Given the description of an element on the screen output the (x, y) to click on. 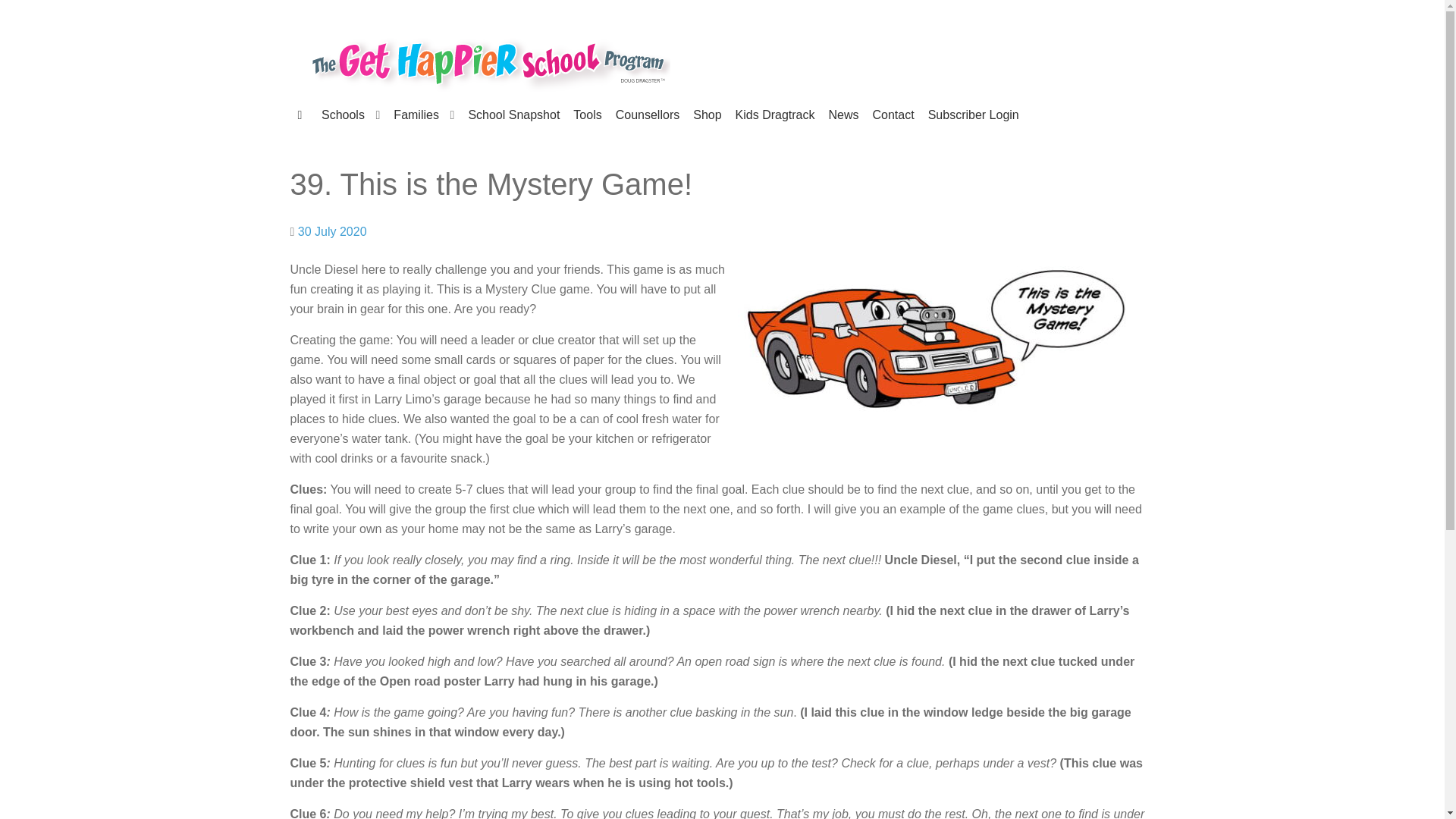
Counsellors (647, 115)
The Get Happier Project (488, 60)
Tools (587, 115)
School Snapshot (513, 115)
News (843, 115)
Subscriber Login (973, 115)
Kids Dragtrack (775, 115)
39. This is the Mystery Game! (332, 231)
30 July 2020 (332, 231)
Contact (893, 115)
